Given the description of an element on the screen output the (x, y) to click on. 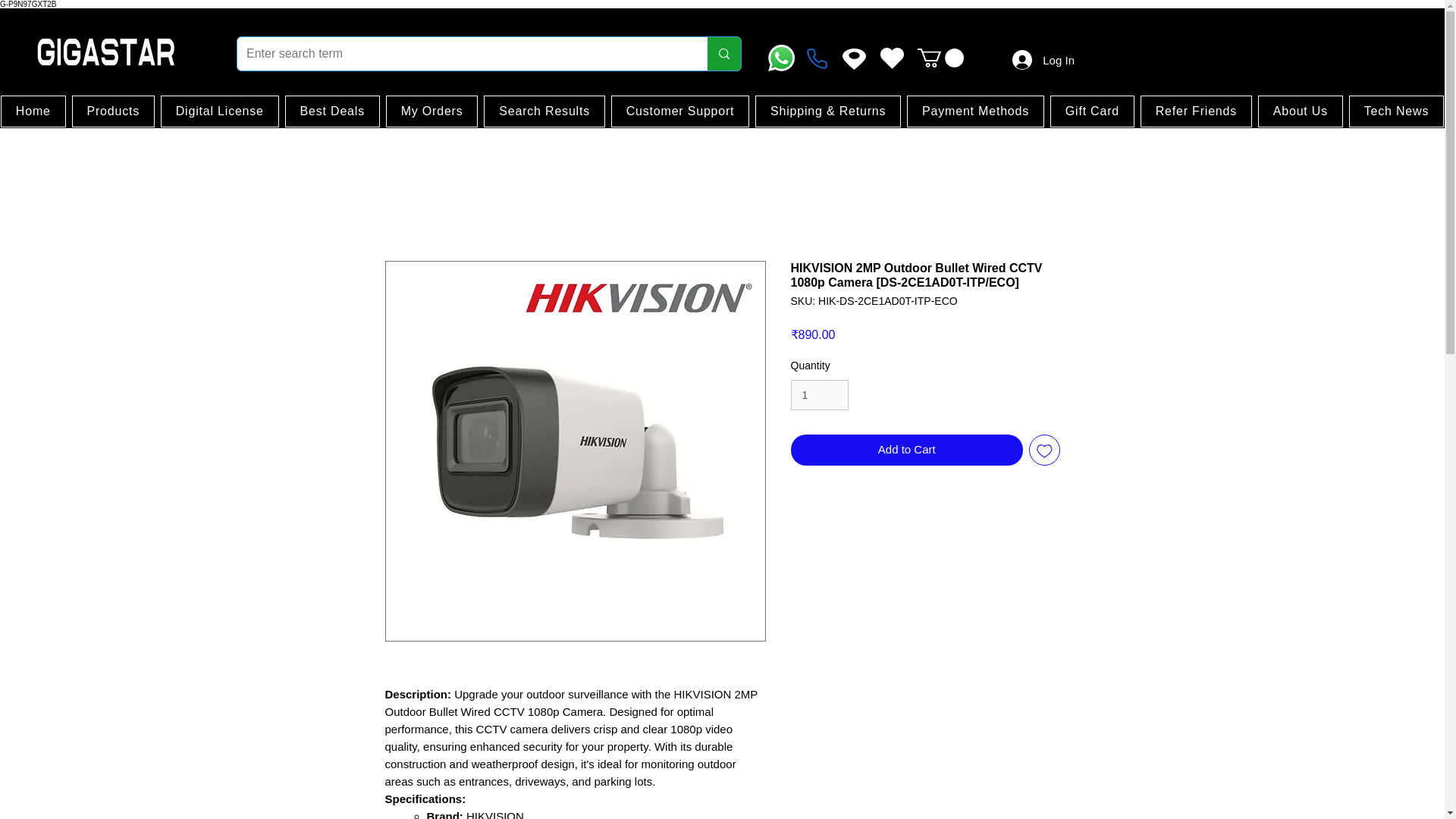
Search Results (543, 111)
About Us (1299, 111)
Gift Card (1091, 111)
Refer Friends (1196, 111)
Products (112, 111)
GIGASTAR TRADEMARK LOGO.png (104, 52)
Payment Methods (975, 111)
Log In (1042, 60)
My Orders (432, 111)
Best Deals (332, 111)
